Given the description of an element on the screen output the (x, y) to click on. 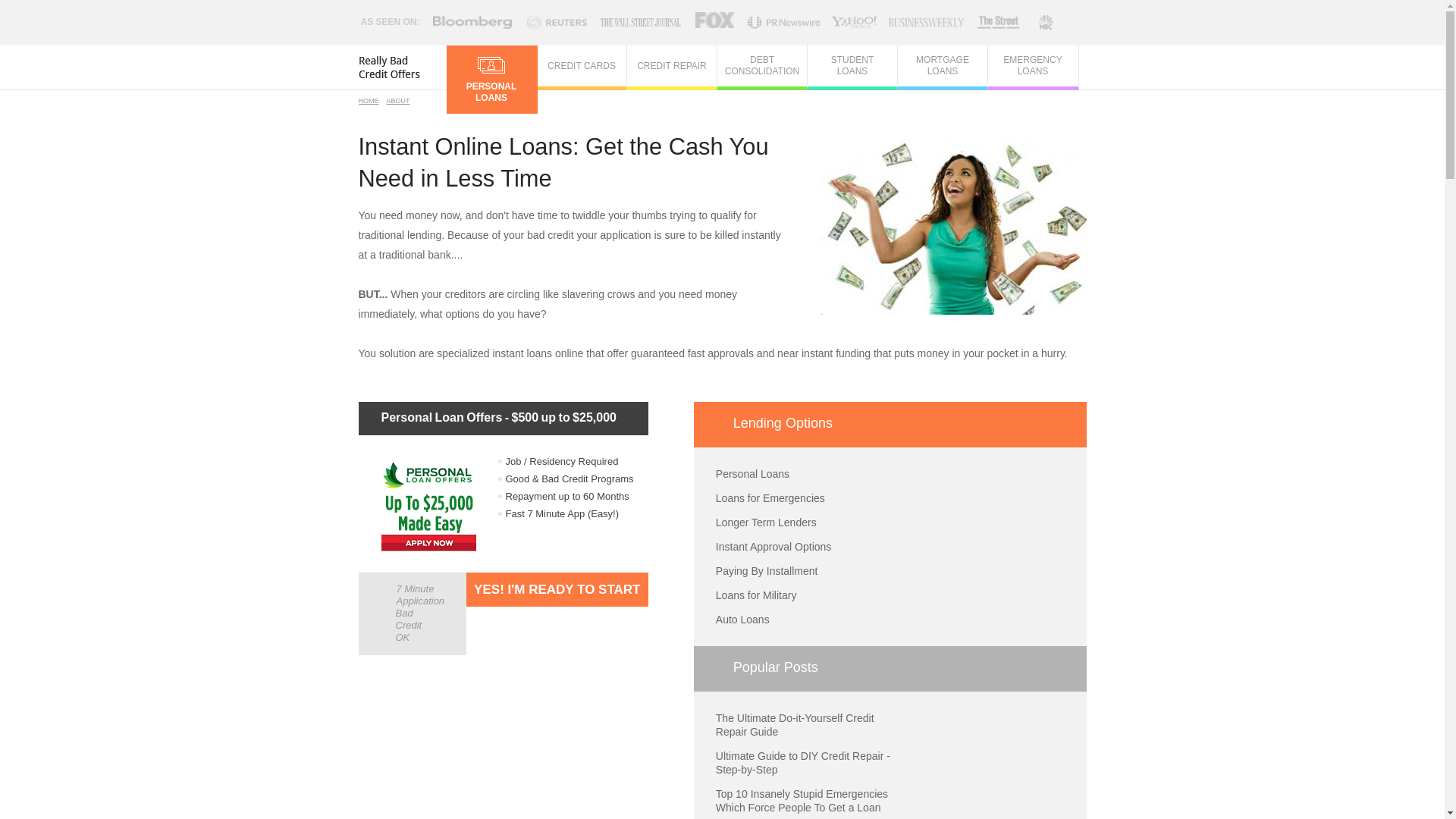
Loans for Emergencies (770, 498)
The Ultimate Do-it-Yourself Credit Repair Guide (795, 724)
MORTGAGE LOANS (943, 65)
step by step credit repair - Ultimate DIY Guide (802, 762)
Lending Options (890, 424)
CREDIT CARDS (582, 65)
ABOUT (398, 100)
PERSONAL LOANS (490, 79)
